Given the description of an element on the screen output the (x, y) to click on. 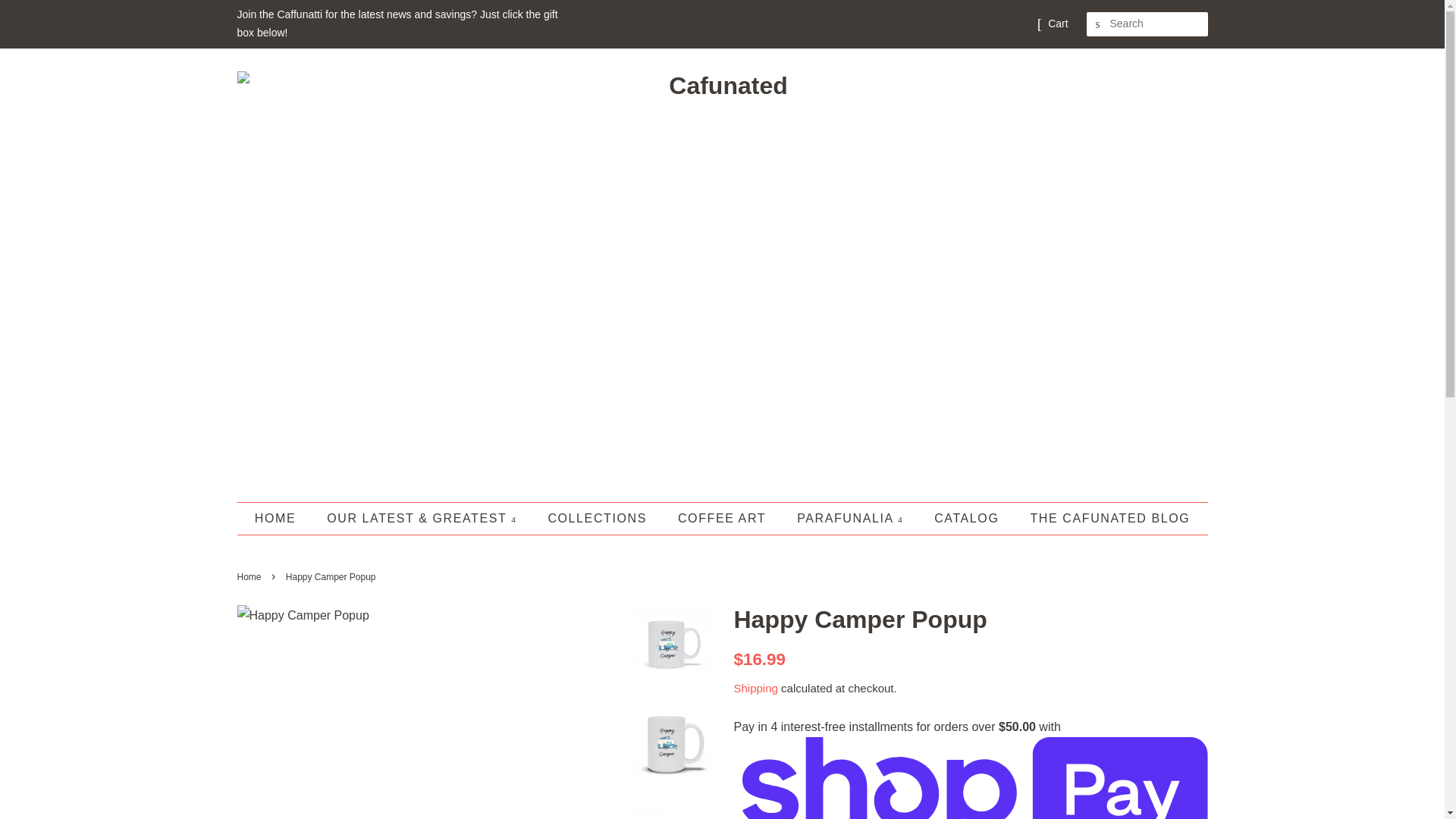
COLLECTIONS (598, 517)
Home (249, 576)
CATALOG (968, 517)
COFFEE ART (723, 517)
THE CAFUNATED BLOG (1105, 517)
SEARCH (1097, 24)
Cart (1057, 24)
HOME (282, 517)
Back to the frontpage (249, 576)
PARAFUNALIA (852, 517)
